Given the description of an element on the screen output the (x, y) to click on. 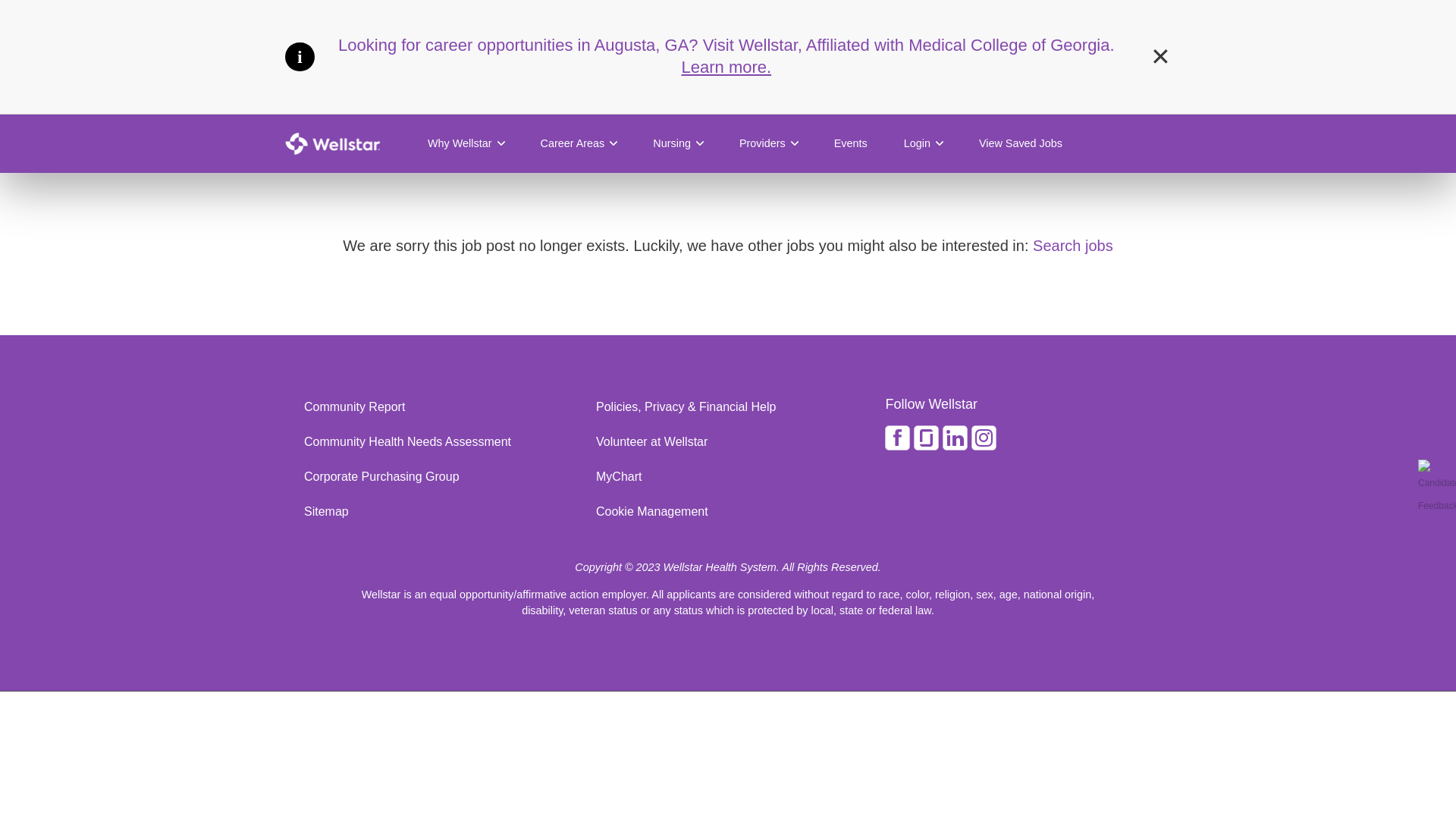
Why Wellstar (465, 142)
Providers (767, 142)
Nursing (677, 142)
Career Areas (577, 142)
View Saved Jobs (1020, 142)
Login (922, 142)
Events (850, 142)
Learn more. (726, 66)
